Given the description of an element on the screen output the (x, y) to click on. 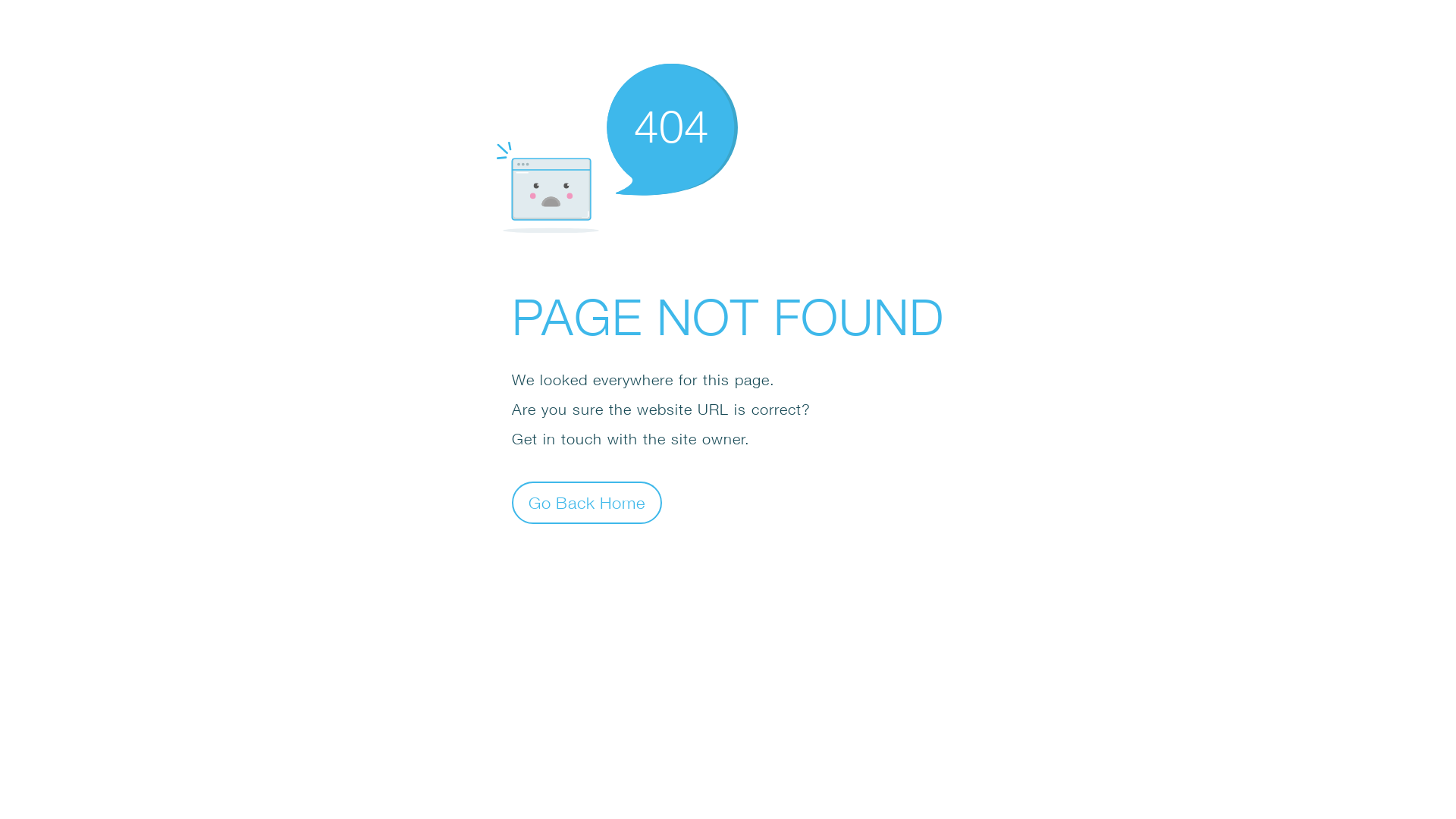
Go Back Home Element type: text (586, 502)
